Given the description of an element on the screen output the (x, y) to click on. 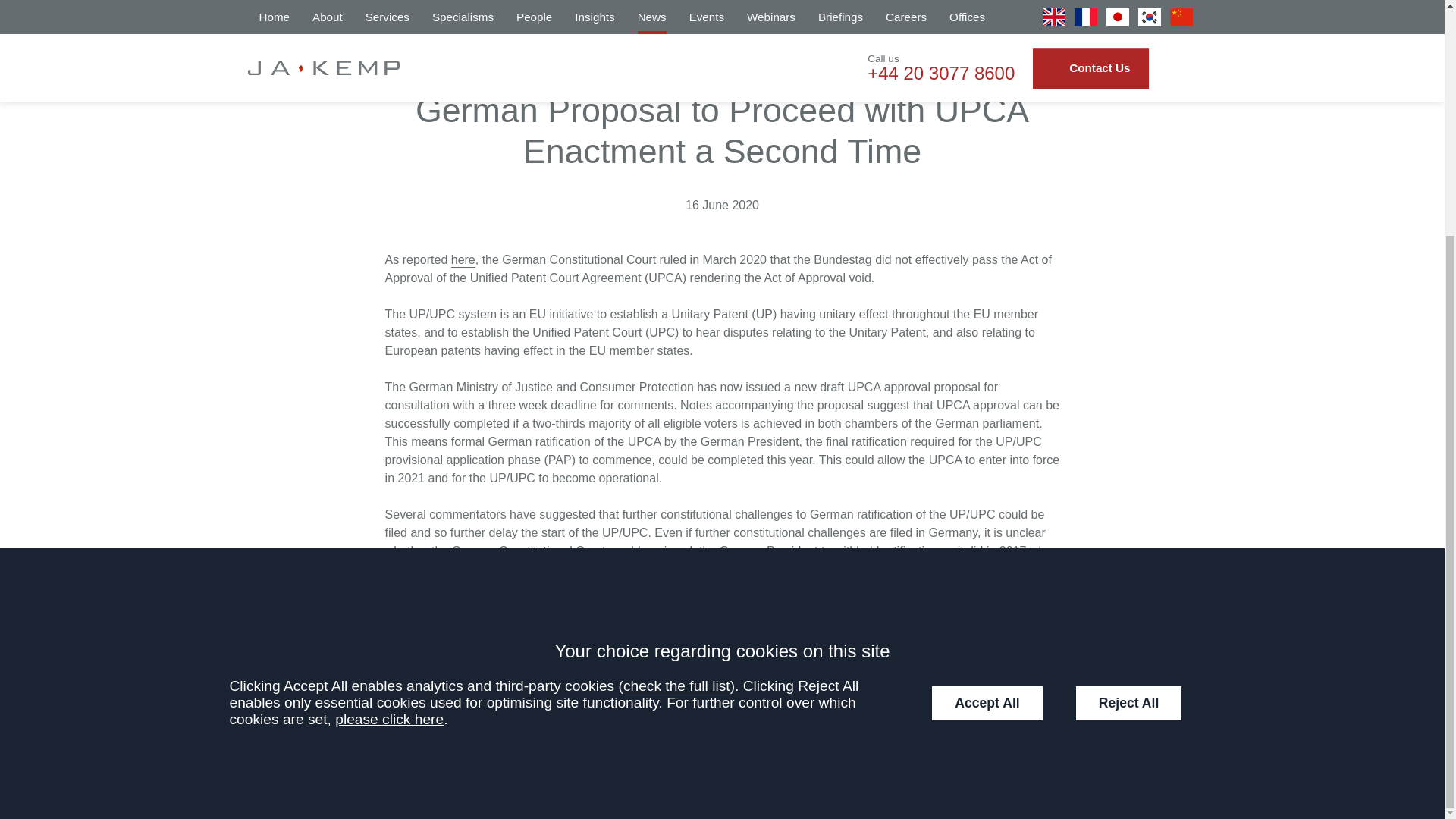
Privacy Policy (284, 684)
Home (261, 29)
IP Litigation (320, 29)
here (463, 260)
